Given the description of an element on the screen output the (x, y) to click on. 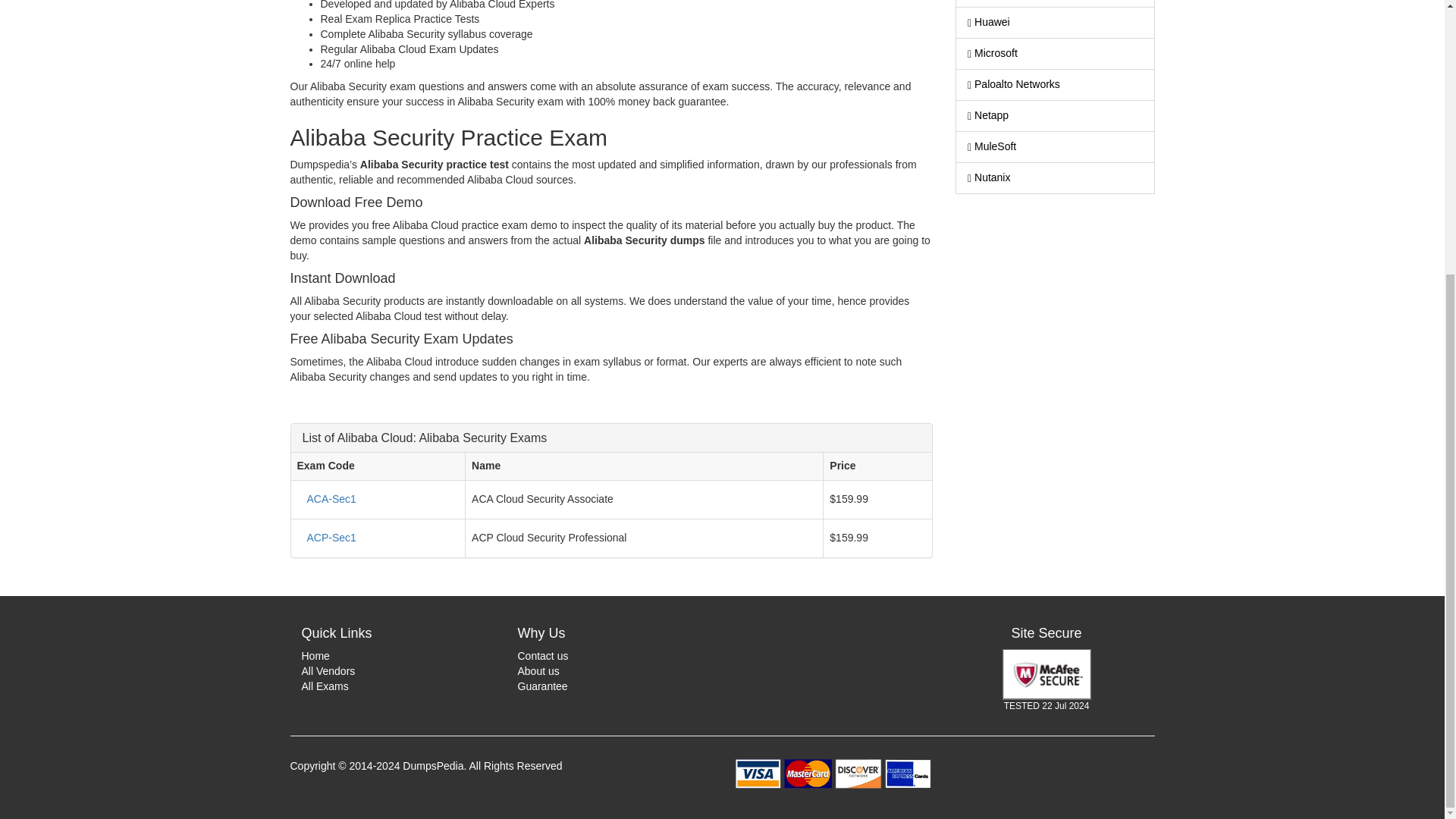
Nutanix (1055, 177)
ACP-Sec1 (331, 538)
HP (1055, 3)
Nutanix (1055, 177)
Paloalto Networks (1055, 84)
MuleSoft (1055, 146)
MuleSoft (1055, 146)
Netapp (1055, 115)
Paloalto Networks (1055, 84)
ACA-Sec1 (331, 499)
Contact us (541, 655)
Microsoft (1055, 53)
HP (1055, 3)
Huawei (1055, 22)
Guarantee (541, 686)
